Given the description of an element on the screen output the (x, y) to click on. 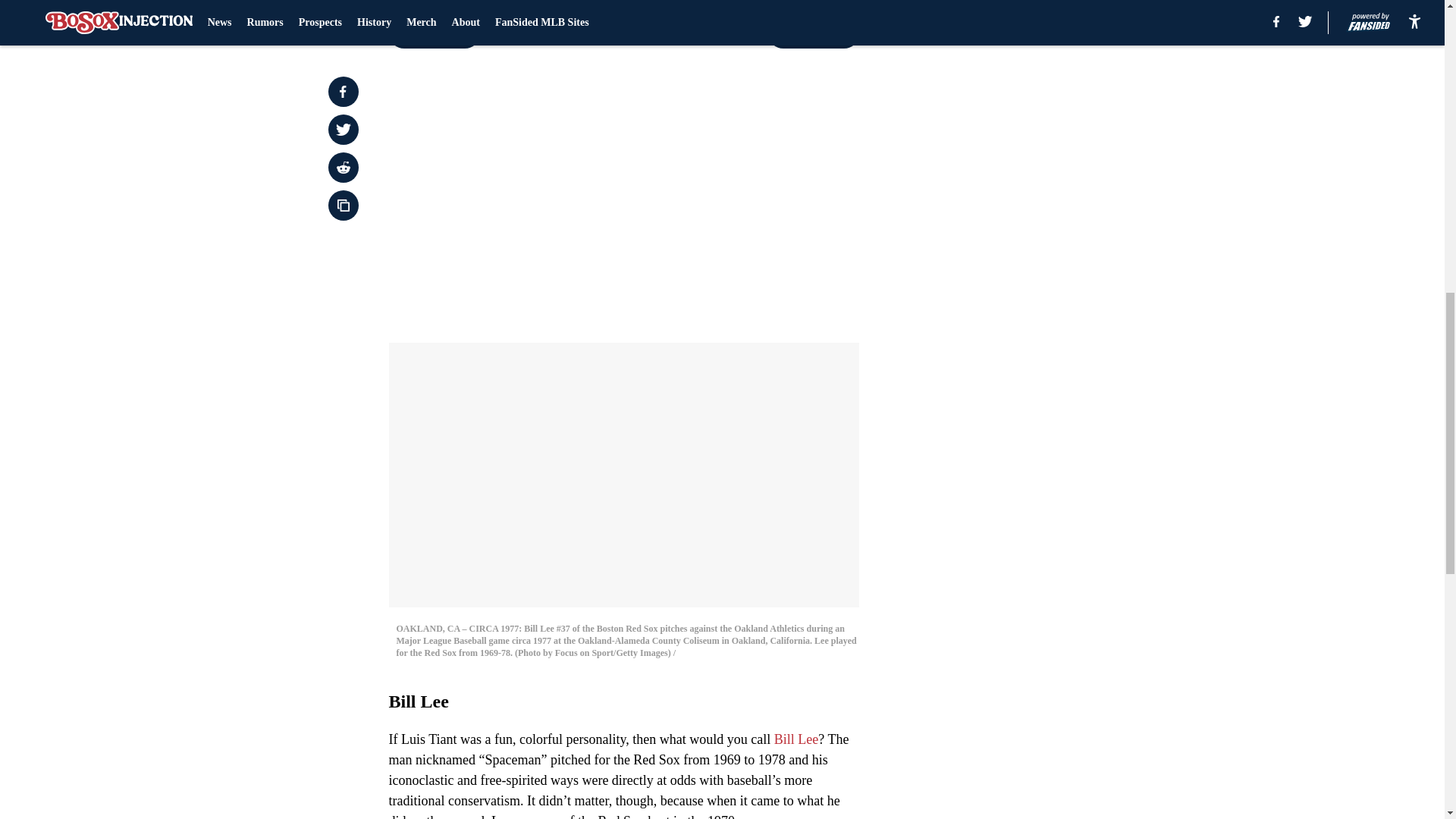
Bill Lee (796, 739)
Prev (433, 33)
Next (813, 33)
